Given the description of an element on the screen output the (x, y) to click on. 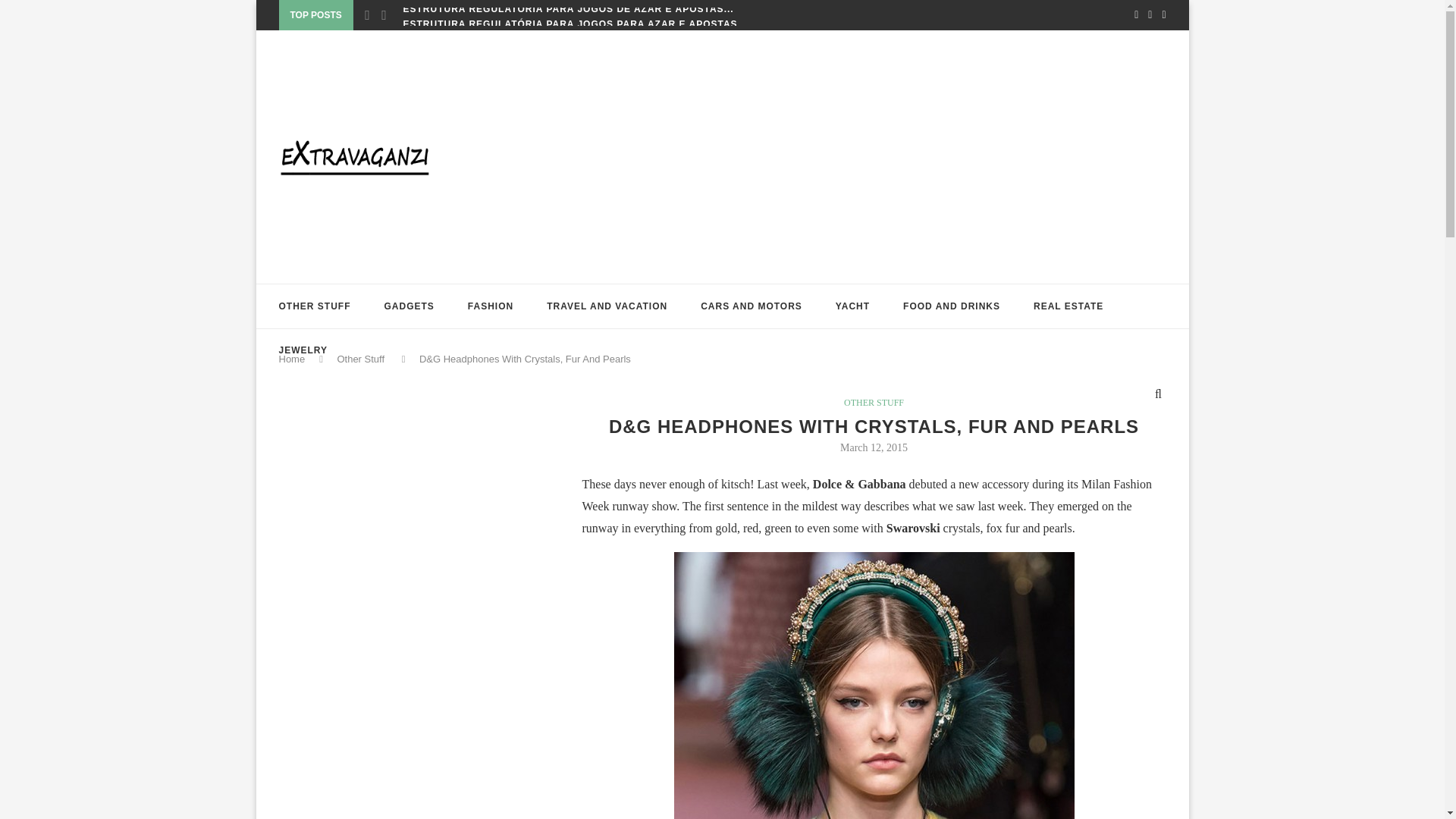
GADGETS (408, 306)
FASHION (490, 306)
CARS AND MOTORS (751, 306)
Advertisement (392, 538)
FOOD AND DRINKS (951, 306)
View all posts in Other Stuff (874, 402)
REAL ESTATE (1068, 306)
OTHER STUFF (314, 306)
TRAVEL AND VACATION (606, 306)
